Given the description of an element on the screen output the (x, y) to click on. 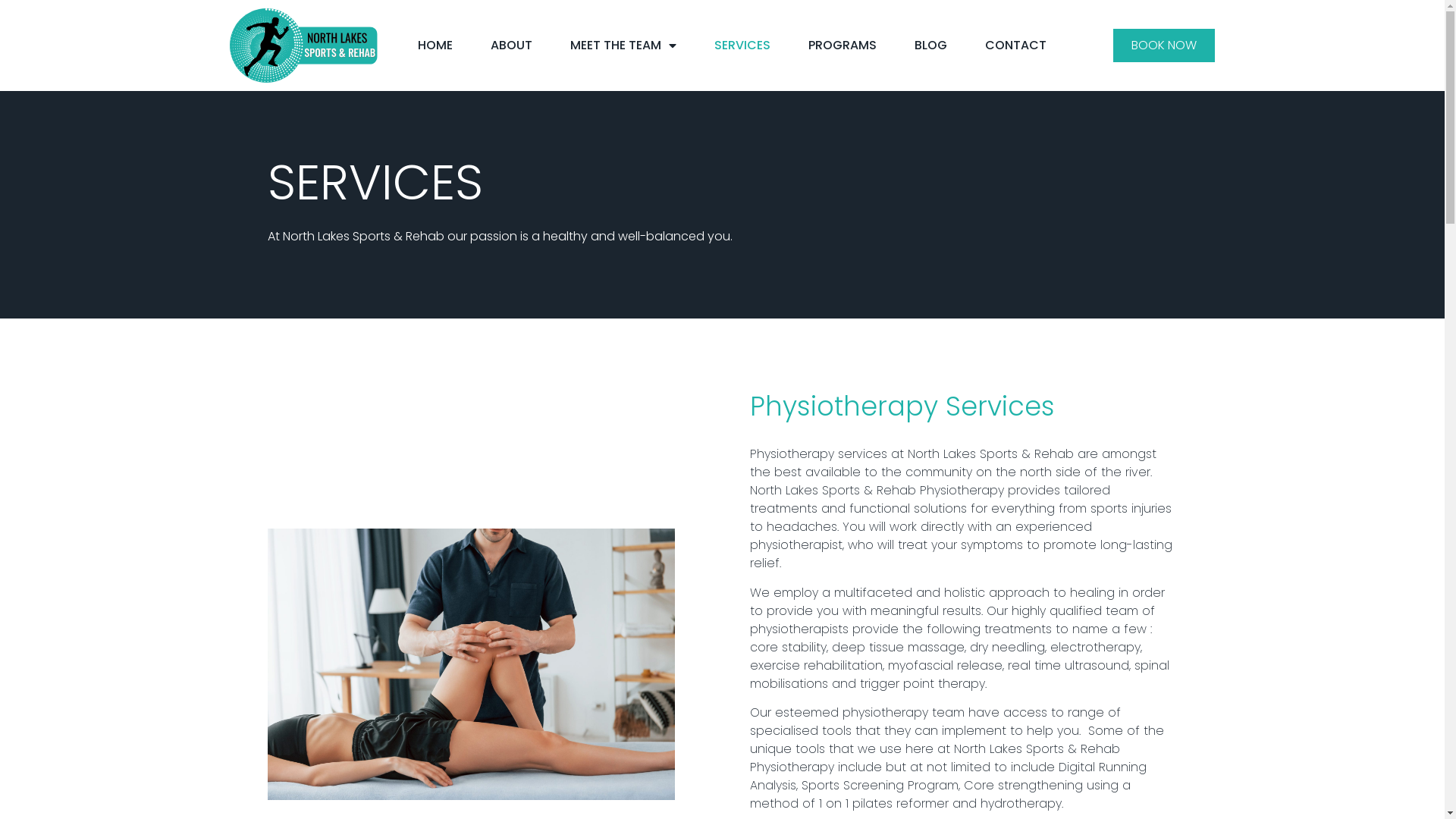
BLOG Element type: text (930, 45)
PROGRAMS Element type: text (842, 45)
BOOK NOW Element type: text (1163, 44)
CONTACT Element type: text (1015, 45)
ABOUT Element type: text (511, 45)
HOME Element type: text (434, 45)
SERVICES Element type: text (742, 45)
MEET THE TEAM Element type: text (623, 45)
